Given the description of an element on the screen output the (x, y) to click on. 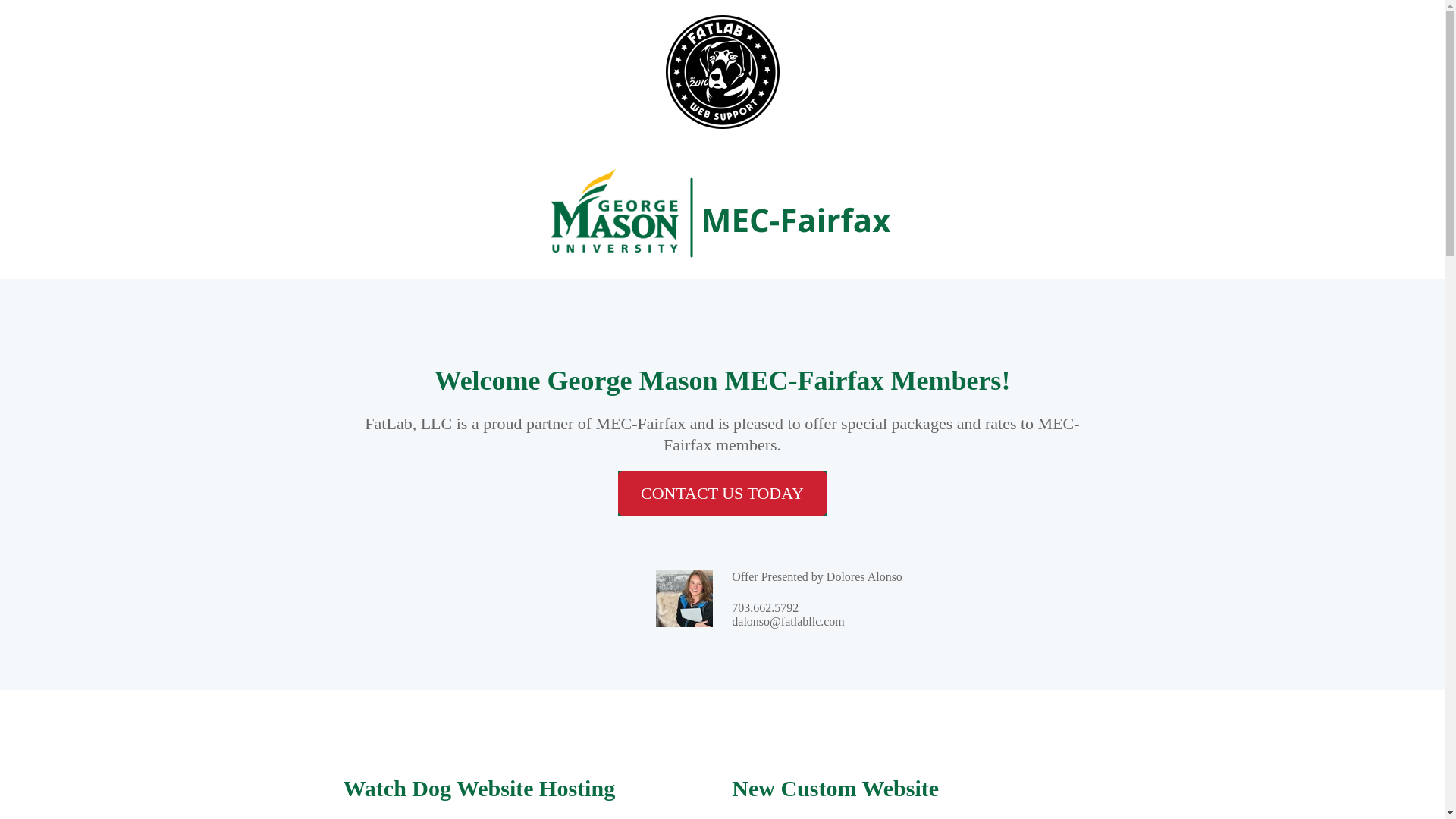
fatlab-logo-web-support (721, 71)
dolores-alonso-2 (684, 598)
CONTACT US TODAY (722, 492)
MEC-Fairfax (721, 210)
